Given the description of an element on the screen output the (x, y) to click on. 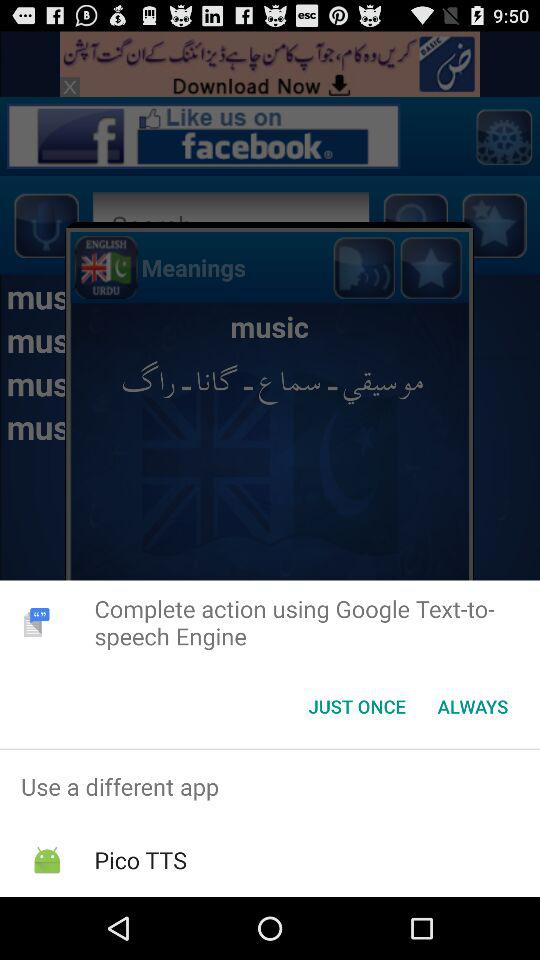
turn on the use a different (270, 786)
